Given the description of an element on the screen output the (x, y) to click on. 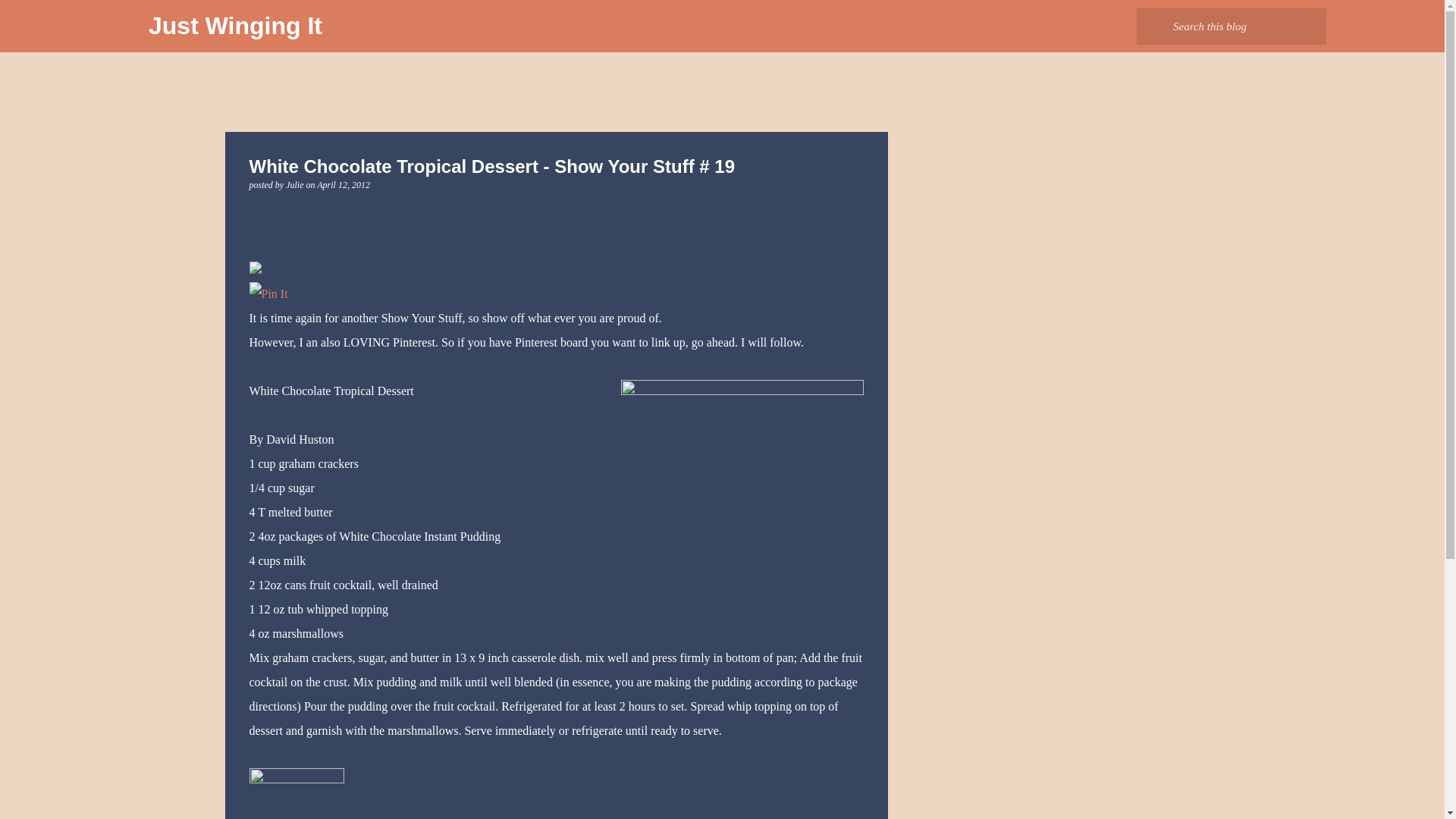
Julie (295, 184)
Pin It (267, 293)
Just Winging It (234, 25)
permanent link (343, 184)
April 12, 2012 (343, 184)
author profile (295, 184)
